Given the description of an element on the screen output the (x, y) to click on. 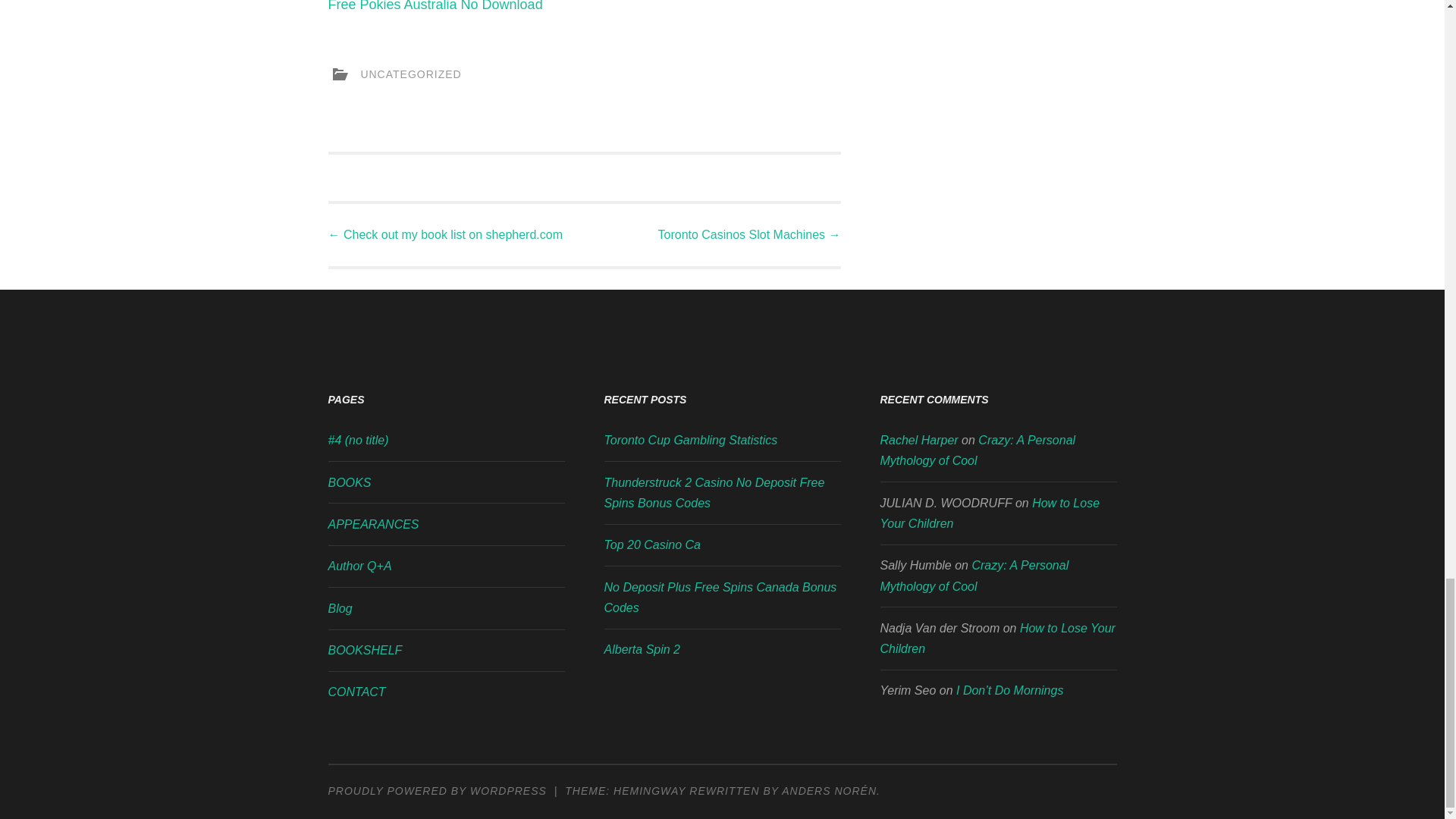
Free Pokies Australia No Download (434, 6)
APPEARANCES (373, 523)
Toronto Cup Gambling Statistics (690, 440)
BOOKSHELF (364, 649)
CONTACT (356, 691)
Blog (339, 608)
BOOKS (349, 481)
